Given the description of an element on the screen output the (x, y) to click on. 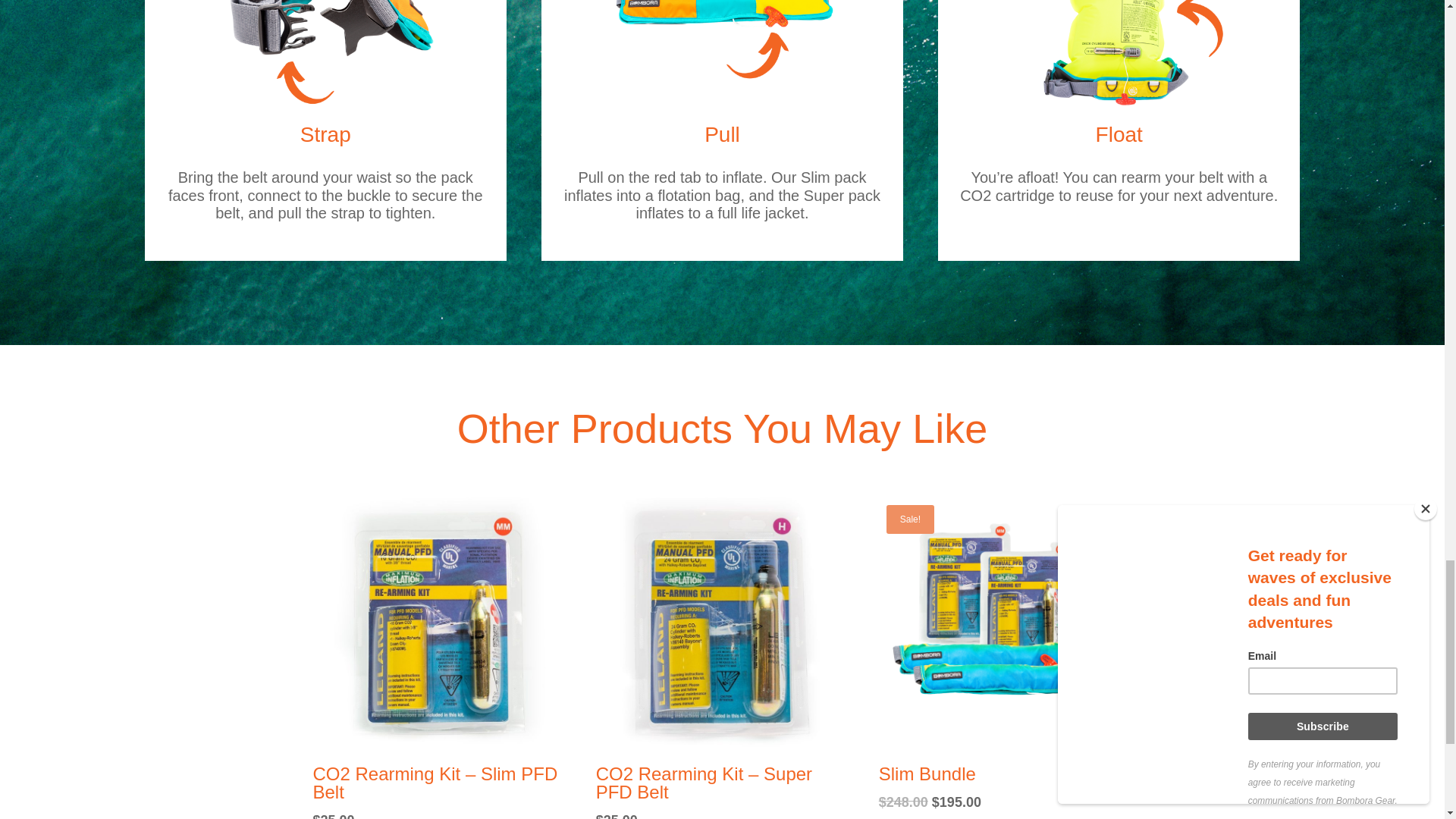
1 (324, 62)
